Given the description of an element on the screen output the (x, y) to click on. 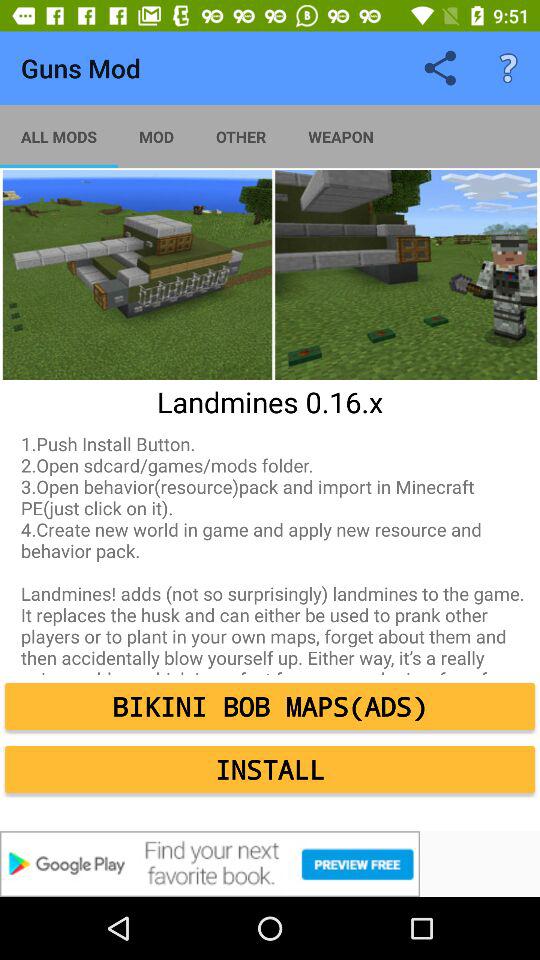
advertisements (270, 864)
